Given the description of an element on the screen output the (x, y) to click on. 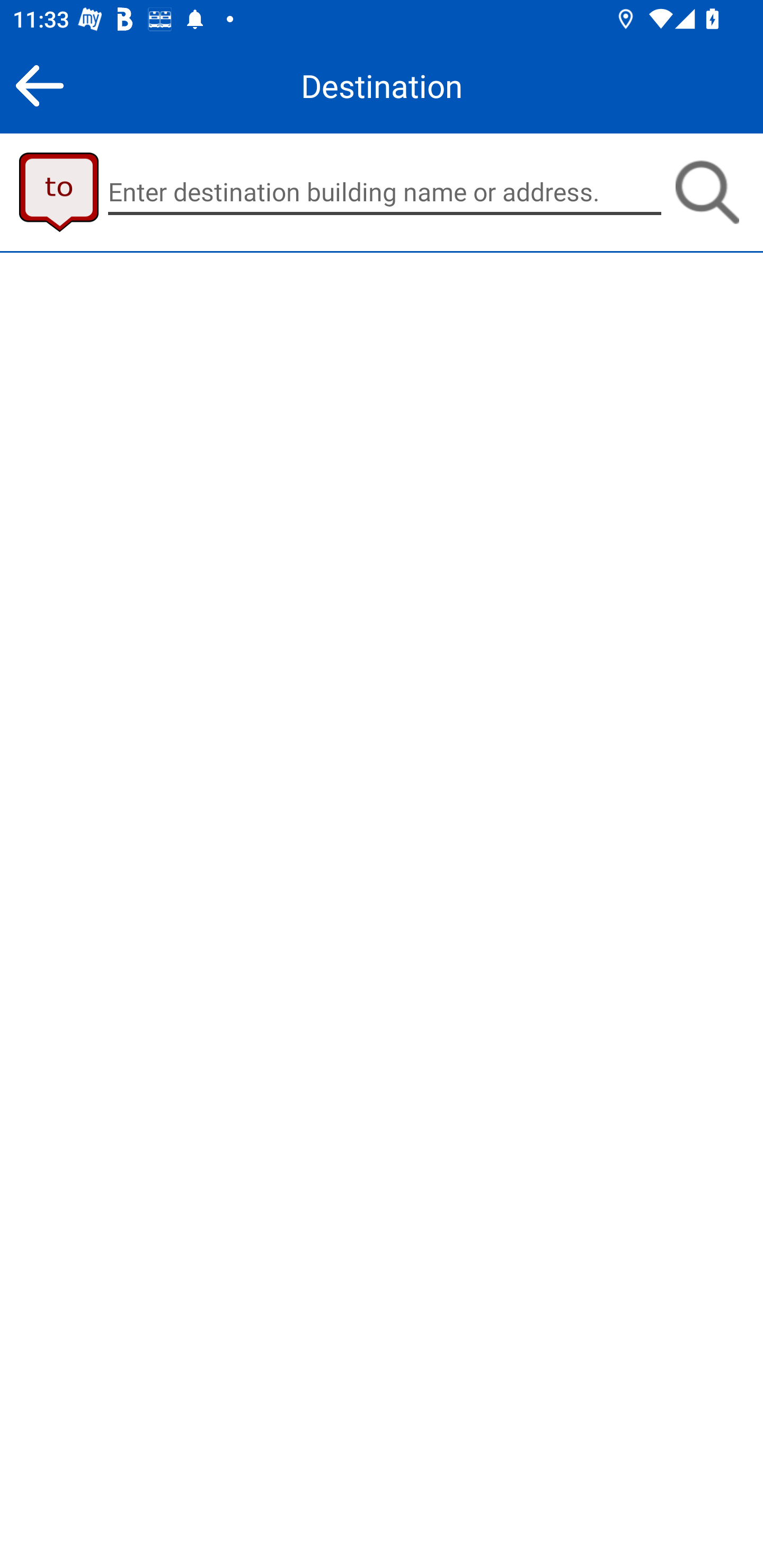
Back (39, 85)
Enter destination building name or address. (384, 191)
Search (707, 191)
